Given the description of an element on the screen output the (x, y) to click on. 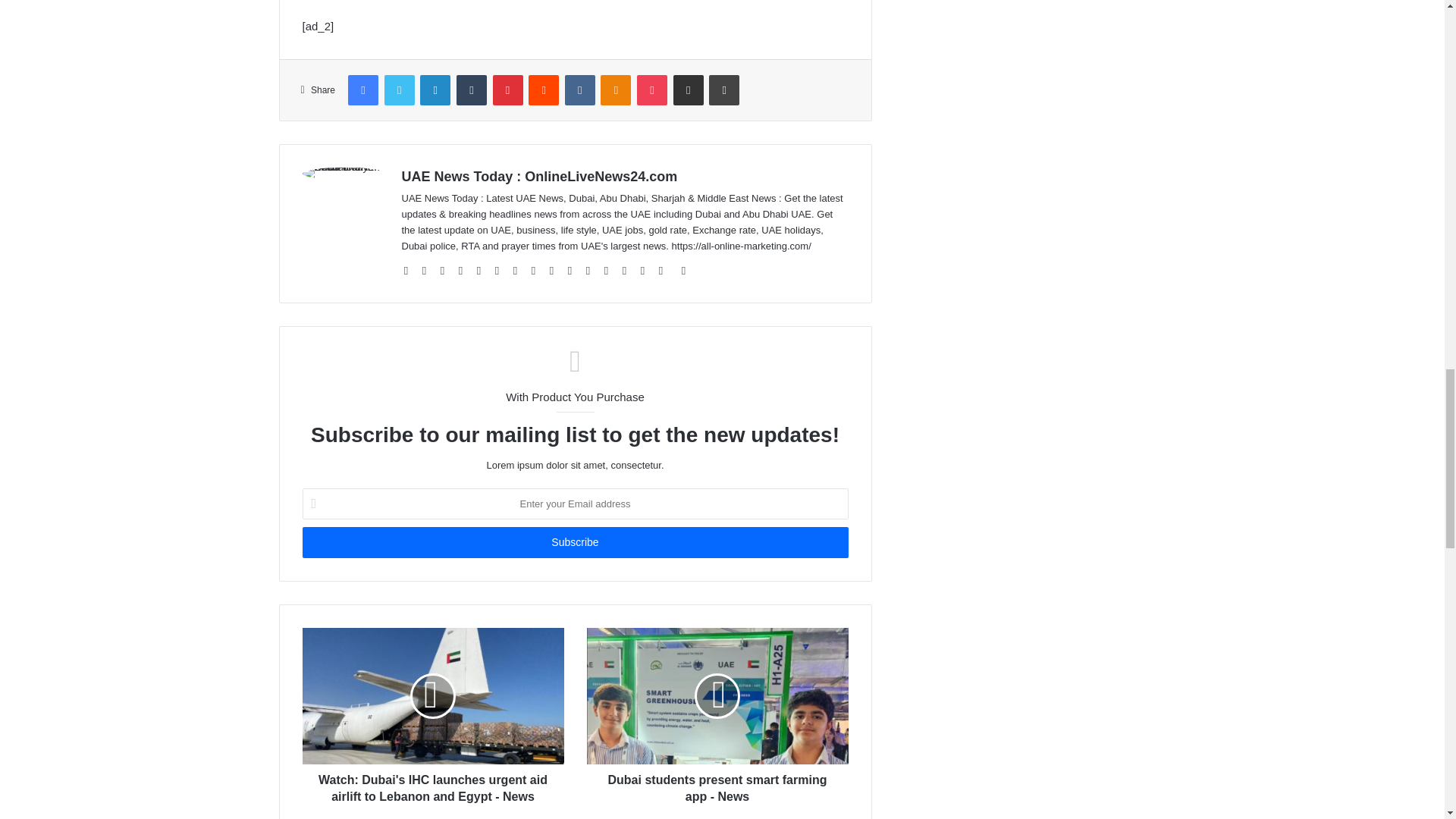
Subscribe (574, 542)
